Given the description of an element on the screen output the (x, y) to click on. 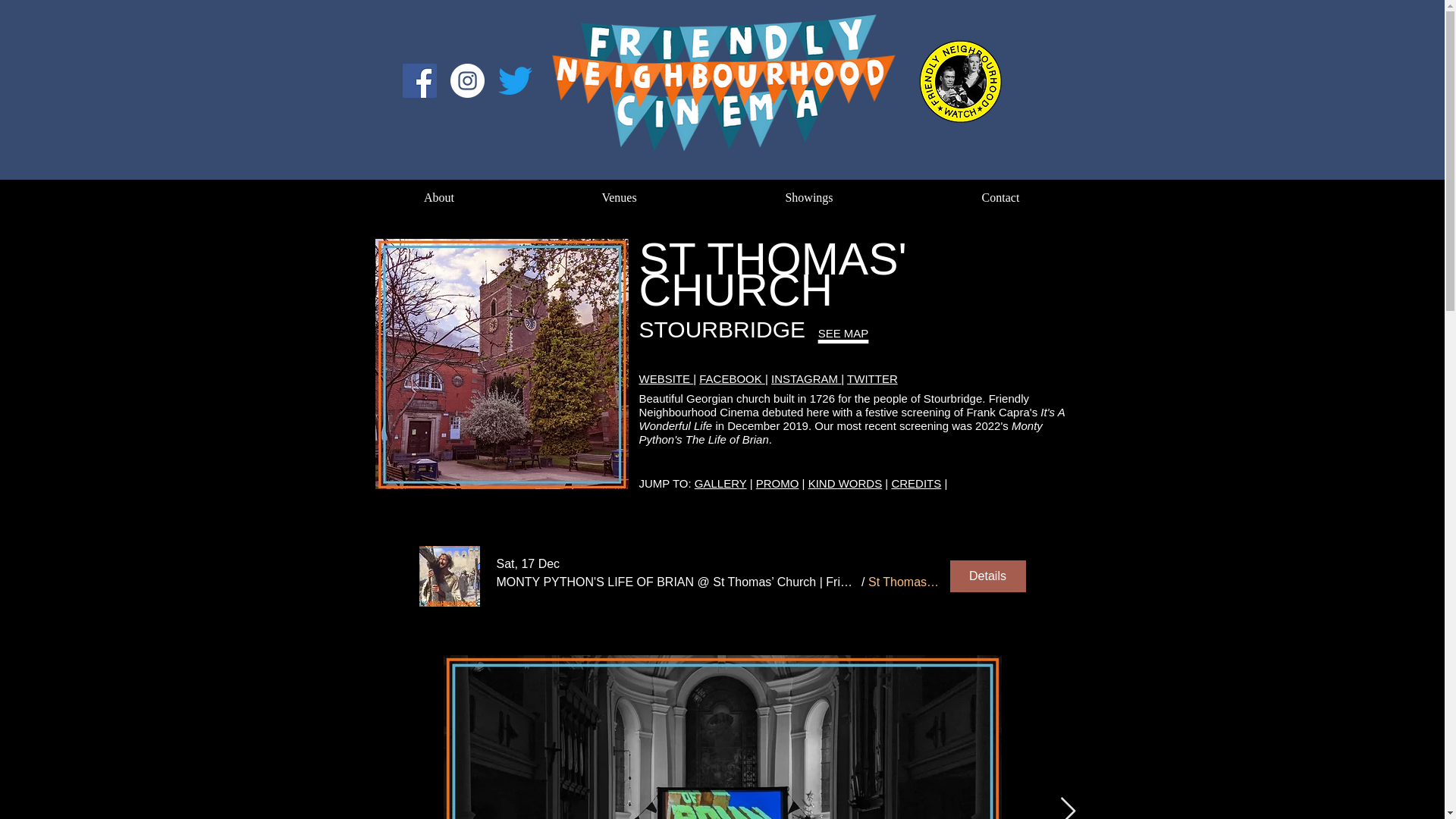
GALLERY (720, 482)
Showings (809, 197)
SEE MAP (843, 322)
WEBSITE (666, 378)
Contact (1000, 197)
FACEBOOK (731, 378)
Details (987, 576)
INSTAGRAM (806, 378)
TWITTER (872, 378)
CREDITS (915, 482)
